Given the description of an element on the screen output the (x, y) to click on. 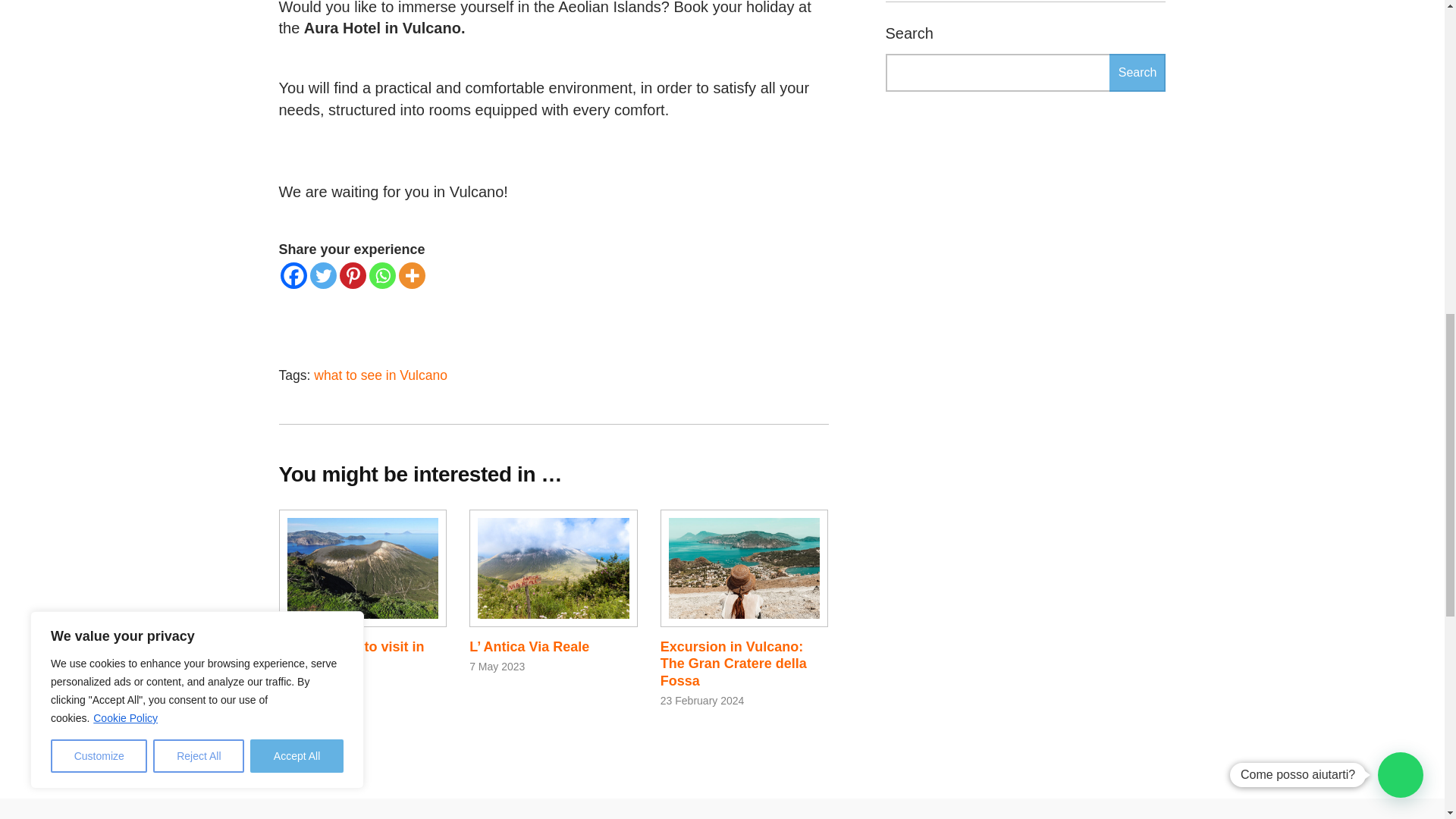
Twitter (322, 275)
The 7 places to visit in Vulcano (352, 655)
Whatsapp (381, 275)
Facebook (294, 275)
More (411, 275)
what to see in Vulcano (380, 375)
Pinterest (352, 275)
